Given the description of an element on the screen output the (x, y) to click on. 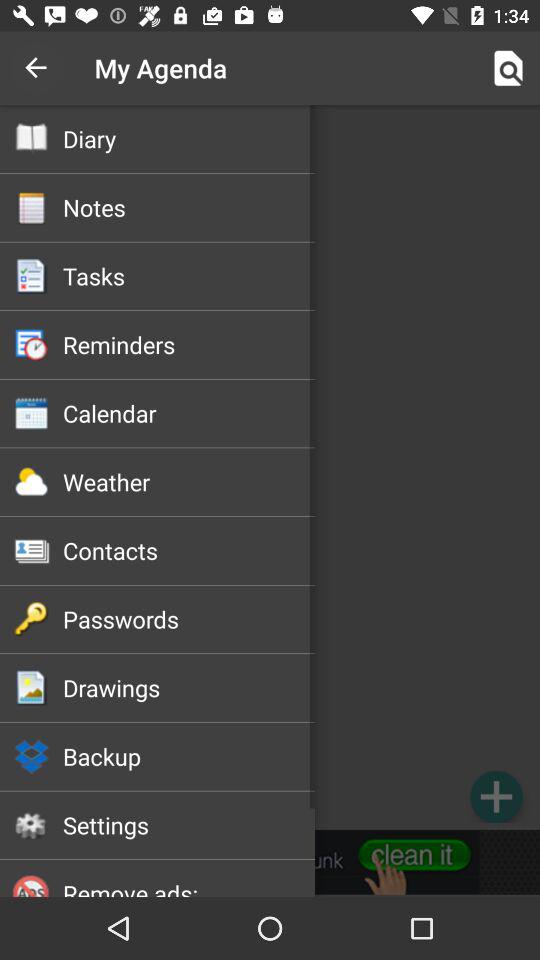
scroll until contacts item (188, 550)
